Given the description of an element on the screen output the (x, y) to click on. 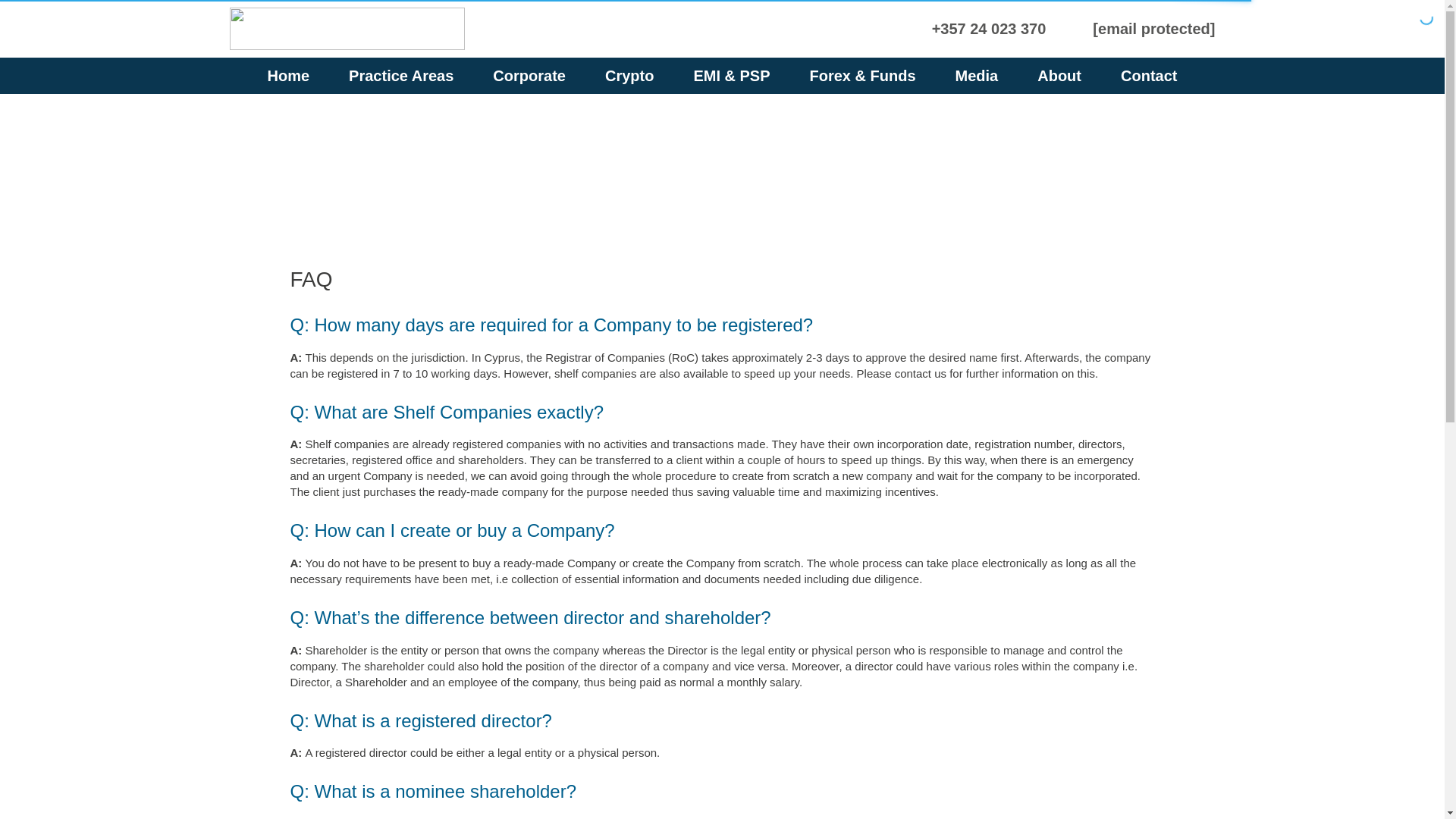
Corporate (529, 75)
Home (288, 75)
Opinion Letter for High-Risk Projects (450, 124)
Opinion Letter for High-Risk Projects (966, 124)
Practice Areas (401, 75)
